Given the description of an element on the screen output the (x, y) to click on. 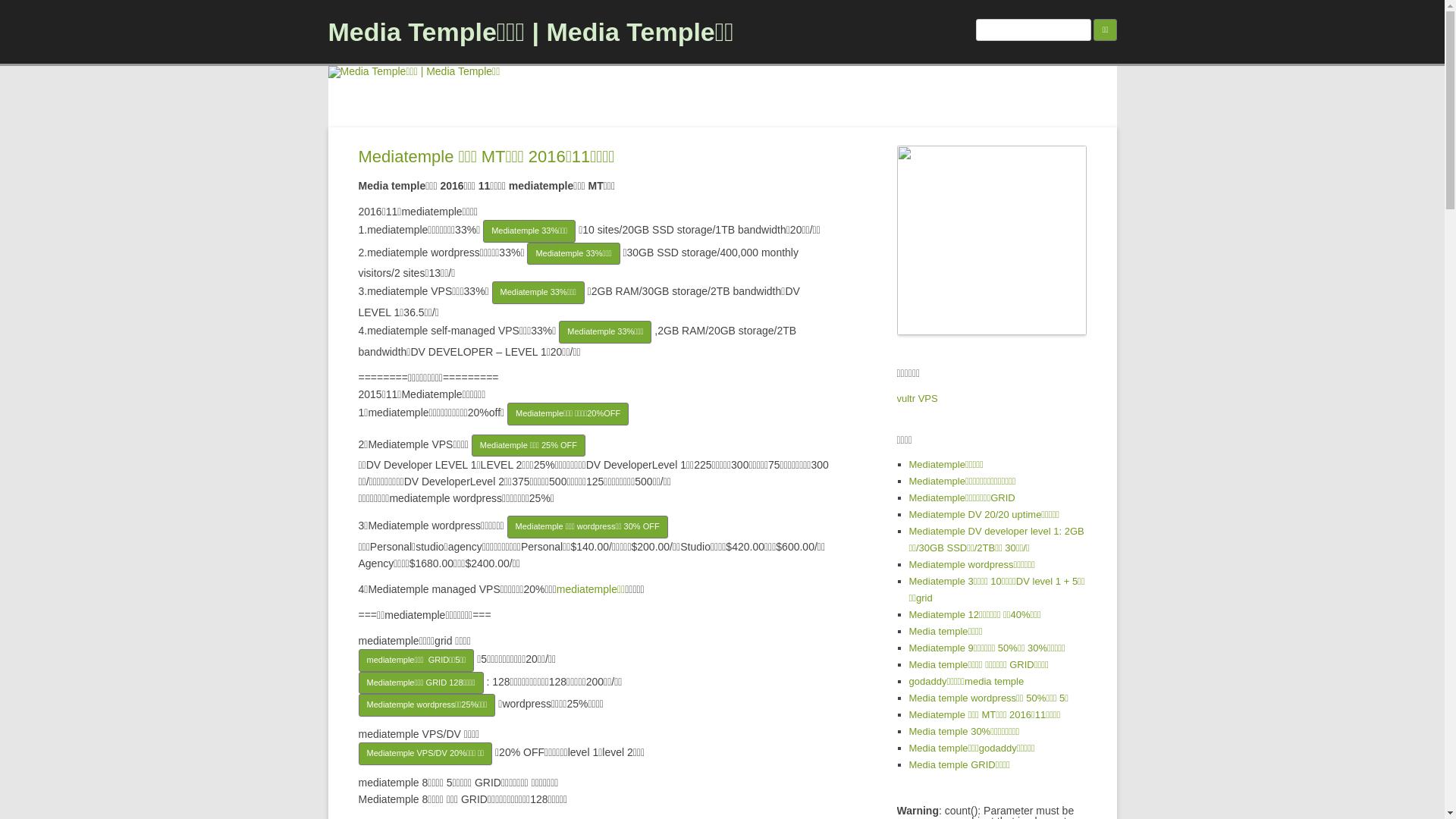
vultr VPS Element type: text (916, 398)
Skip to content Element type: text (756, 132)
